Given the description of an element on the screen output the (x, y) to click on. 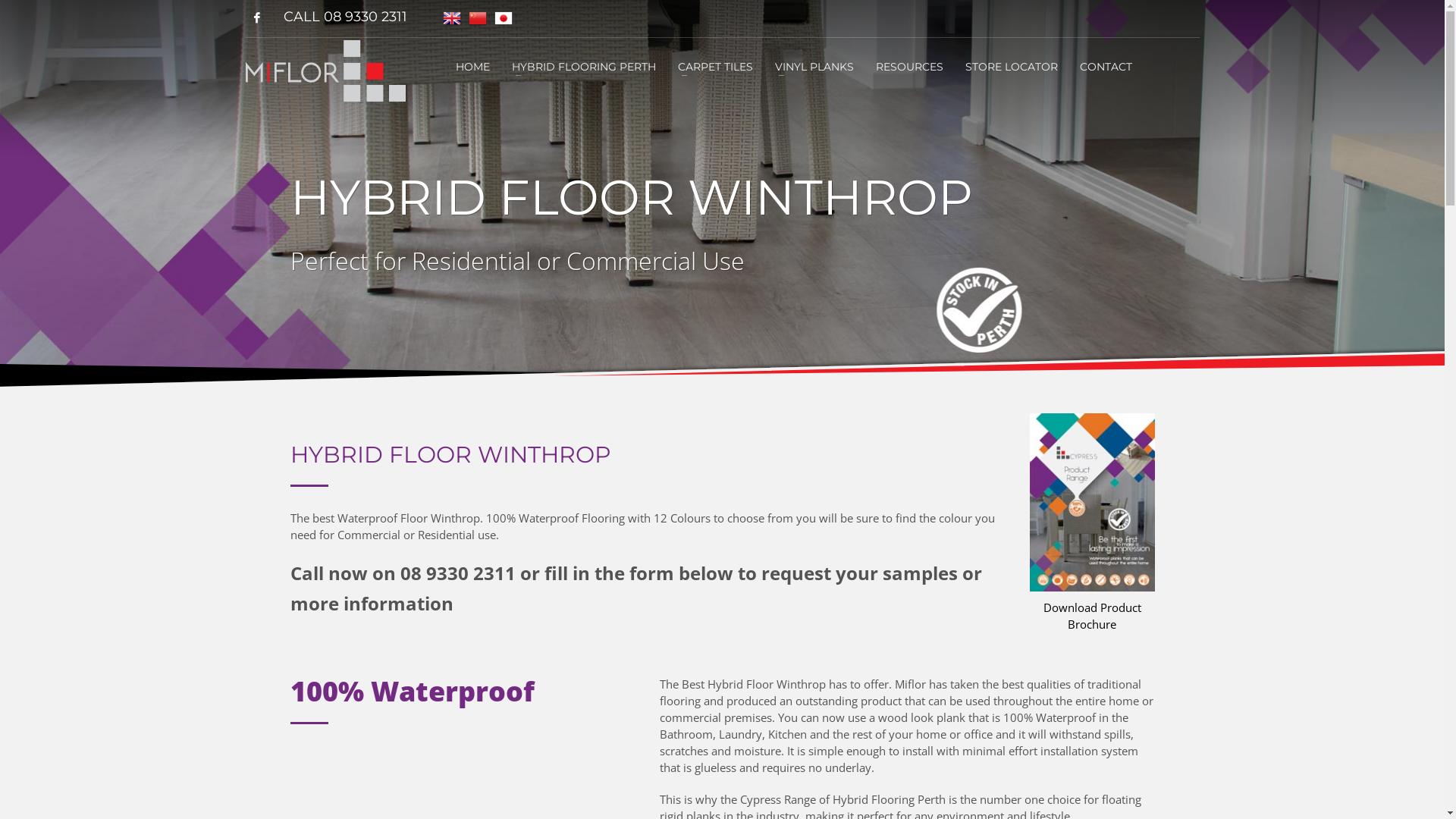
Water Proof Flooring Perth Element type: hover (326, 70)
Chinese (Simplified) Element type: hover (476, 17)
CARPET TILES Element type: text (715, 65)
HYBRID FLOORING PERTH Element type: text (583, 65)
CONTACT Element type: text (1105, 65)
HOME Element type: text (472, 65)
HYBRID FLOOR WINTHROP Element type: hover (1091, 502)
Download Product Brochure Element type: text (1092, 615)
STORE LOCATOR Element type: text (1011, 65)
Japanese Element type: hover (502, 17)
VINYL PLANKS Element type: text (813, 65)
RESOURCES Element type: text (909, 65)
English Element type: hover (451, 17)
Facebook Element type: hover (256, 17)
